Given the description of an element on the screen output the (x, y) to click on. 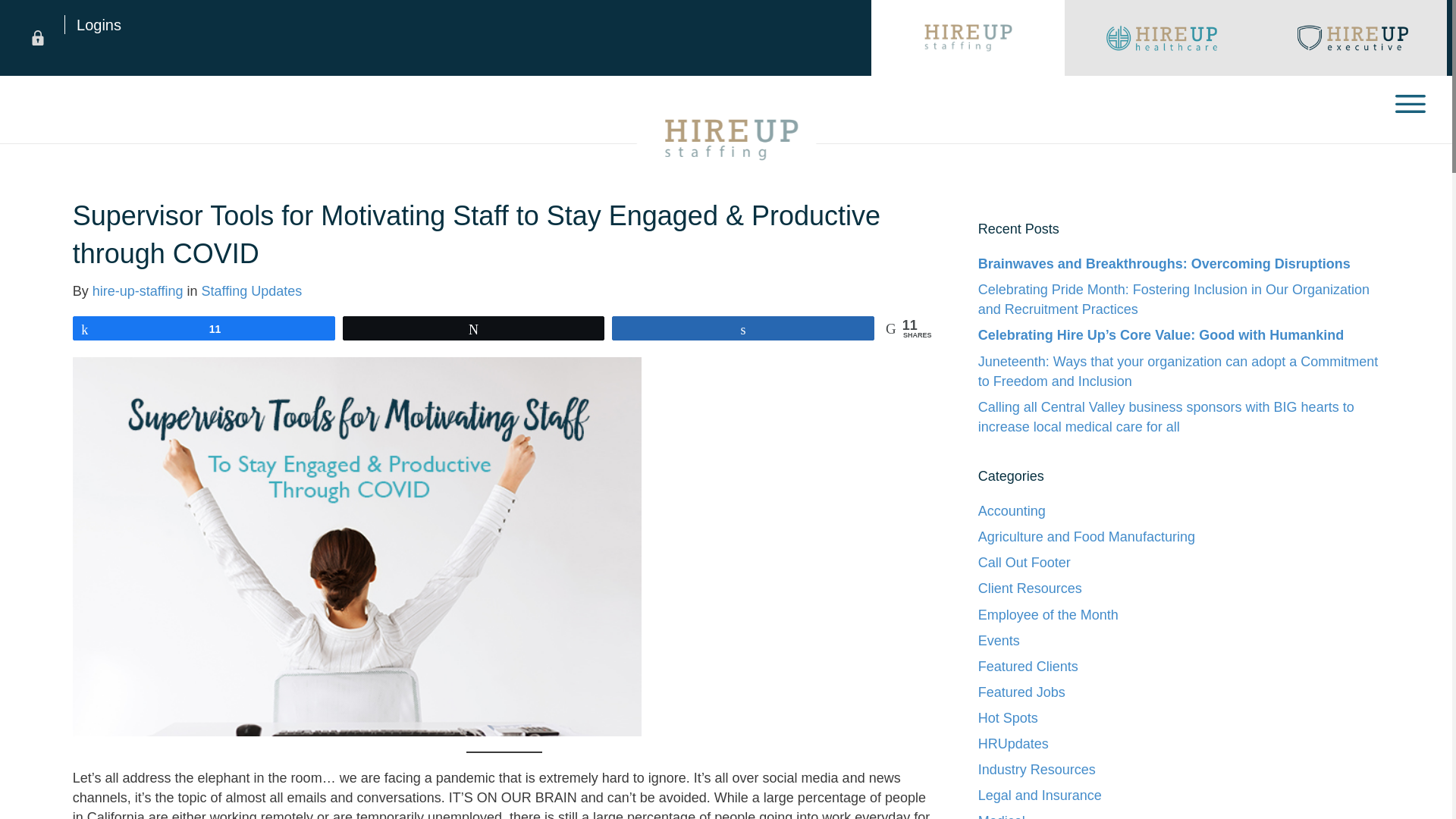
Logins (92, 24)
